Given the description of an element on the screen output the (x, y) to click on. 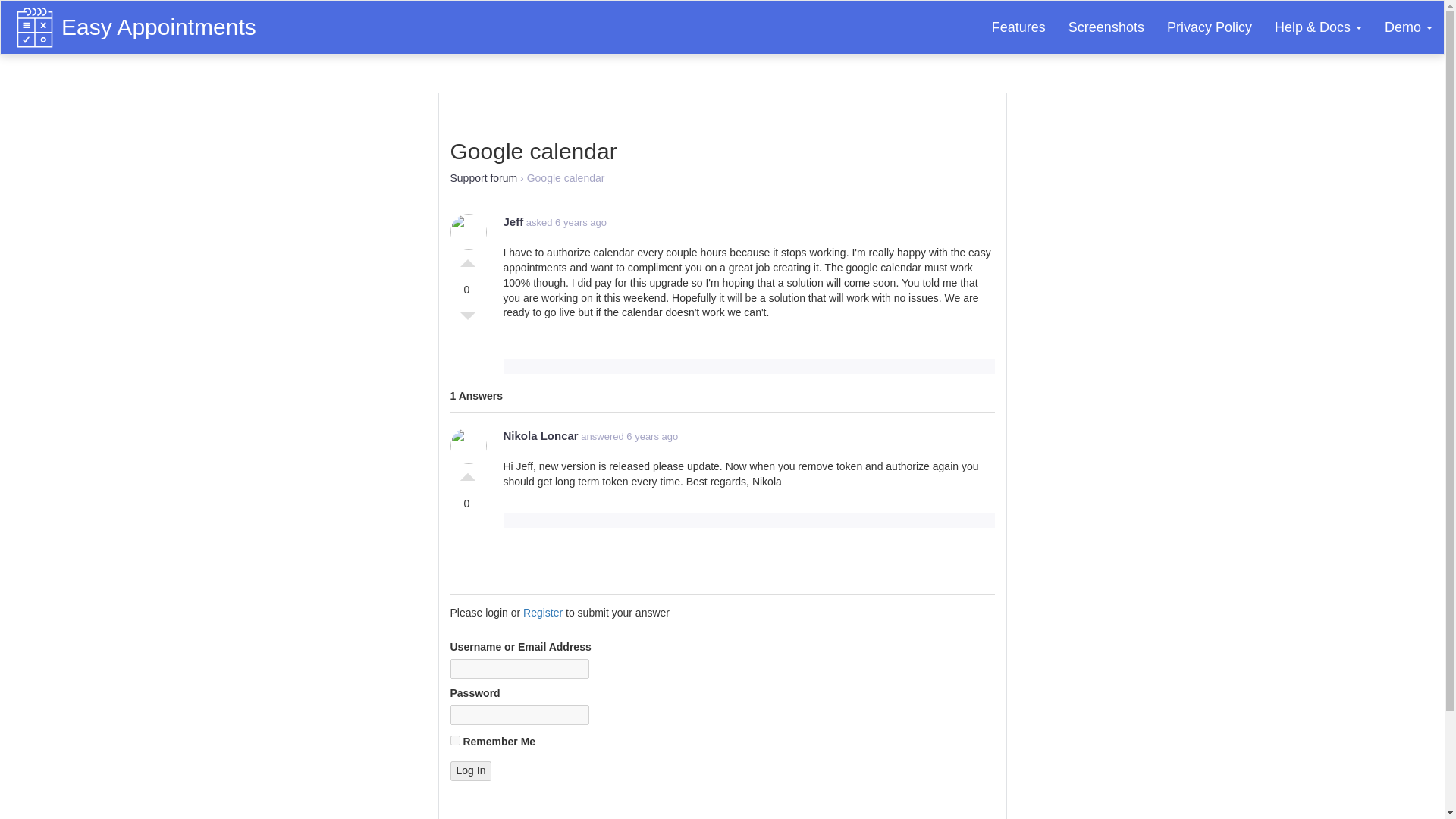
Vote Up (467, 258)
Log In (470, 771)
Support forum (483, 177)
Privacy Policy (1209, 27)
Screenshots (1106, 27)
Easy Appointments (162, 19)
Vote Down (467, 319)
Log In (470, 771)
Features (1018, 27)
Demo (1408, 27)
forever (454, 740)
Register (542, 612)
Jeff (513, 221)
Vote Up (467, 473)
Nikola Loncar (540, 435)
